Given the description of an element on the screen output the (x, y) to click on. 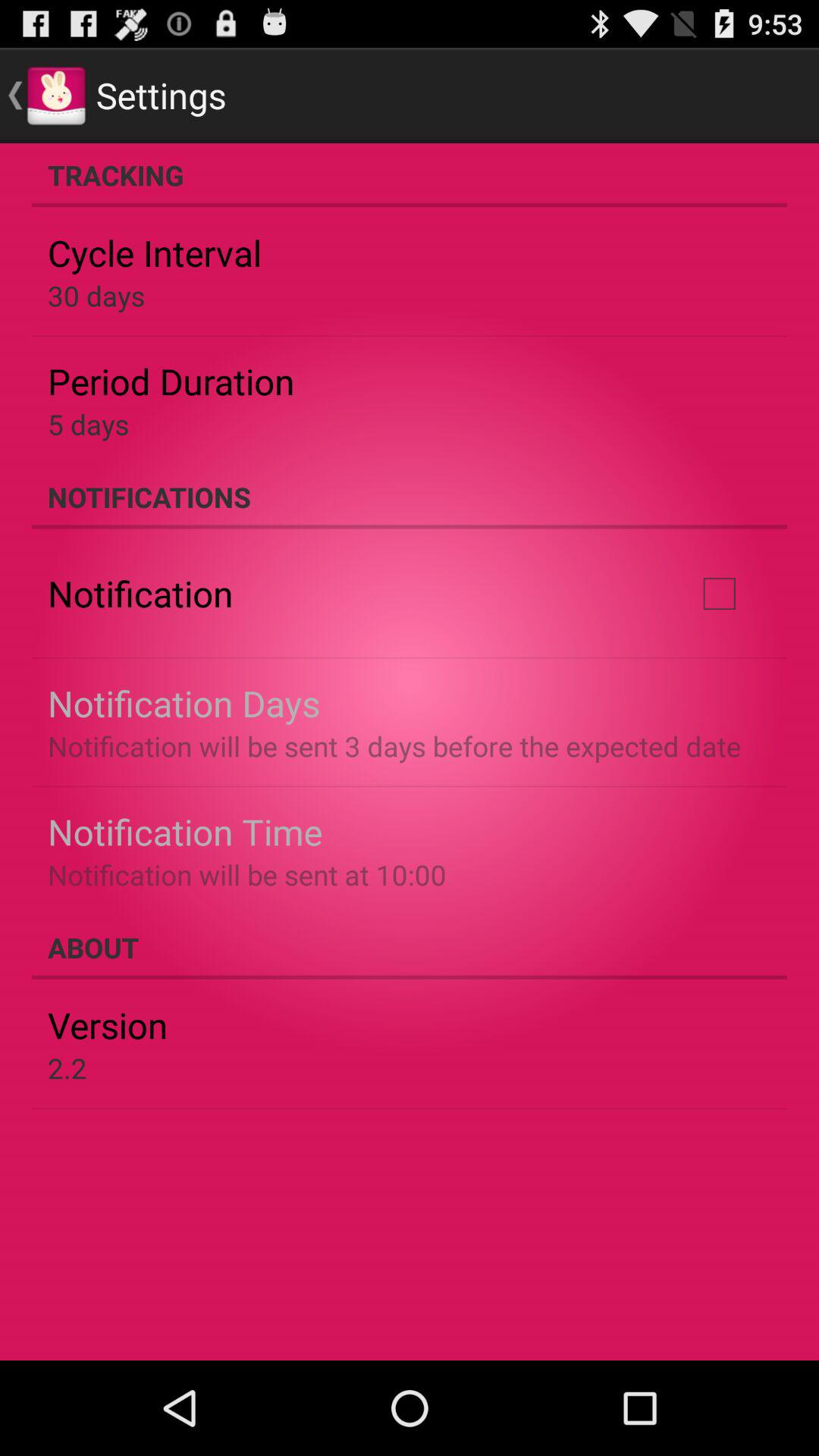
flip to tracking app (409, 175)
